Given the description of an element on the screen output the (x, y) to click on. 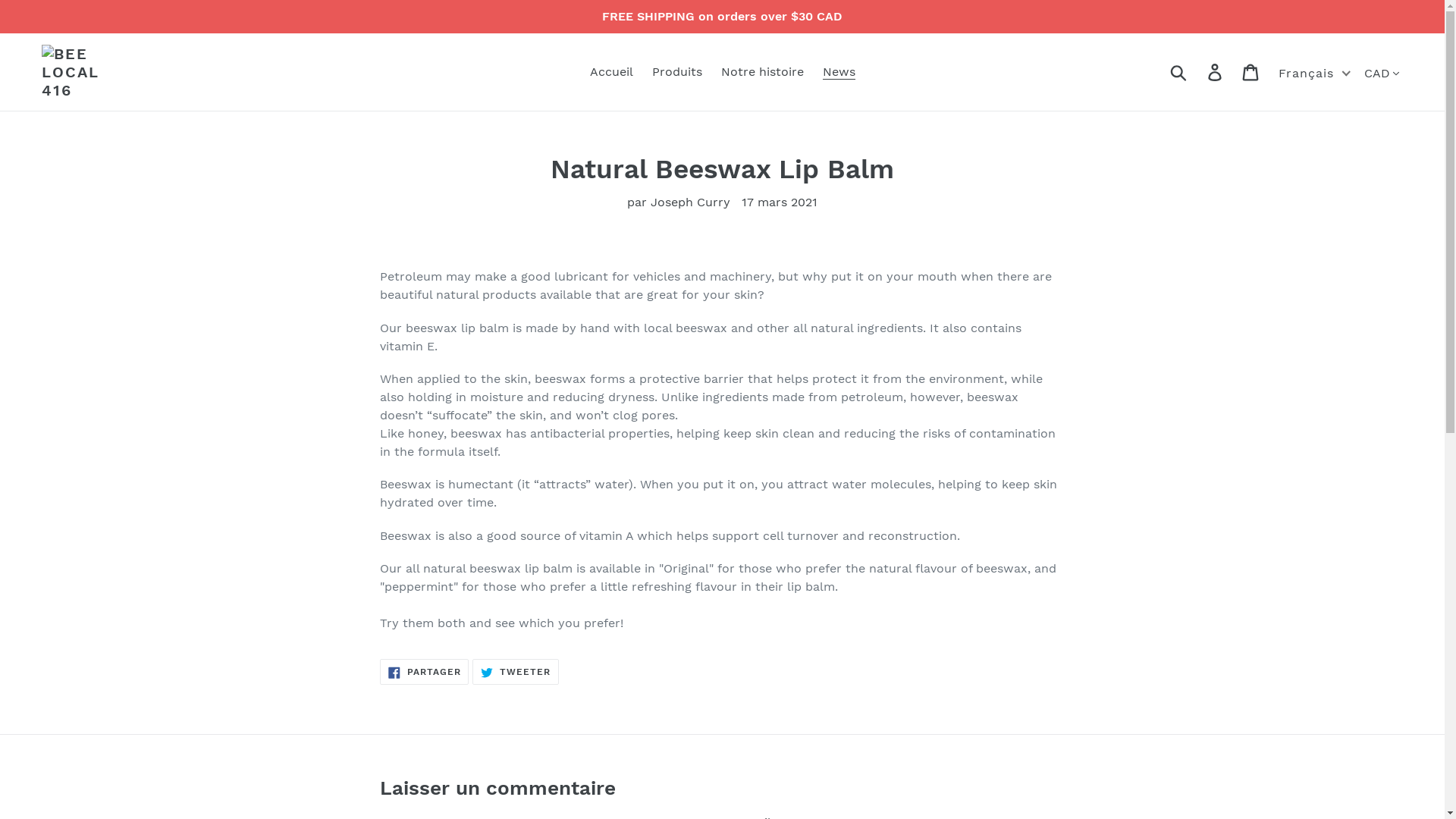
PARTAGER
PARTAGER SUR FACEBOOK Element type: text (424, 672)
Panier Element type: text (1251, 72)
Accueil Element type: text (611, 71)
Soumettre Element type: text (1179, 71)
FREE SHIPPING on orders over $30 CAD Element type: text (722, 16)
Produits Element type: text (676, 71)
News Element type: text (838, 71)
TWEETER
TWEETER SUR TWITTER Element type: text (515, 672)
Se connecter Element type: text (1215, 72)
Notre histoire Element type: text (761, 71)
